Given the description of an element on the screen output the (x, y) to click on. 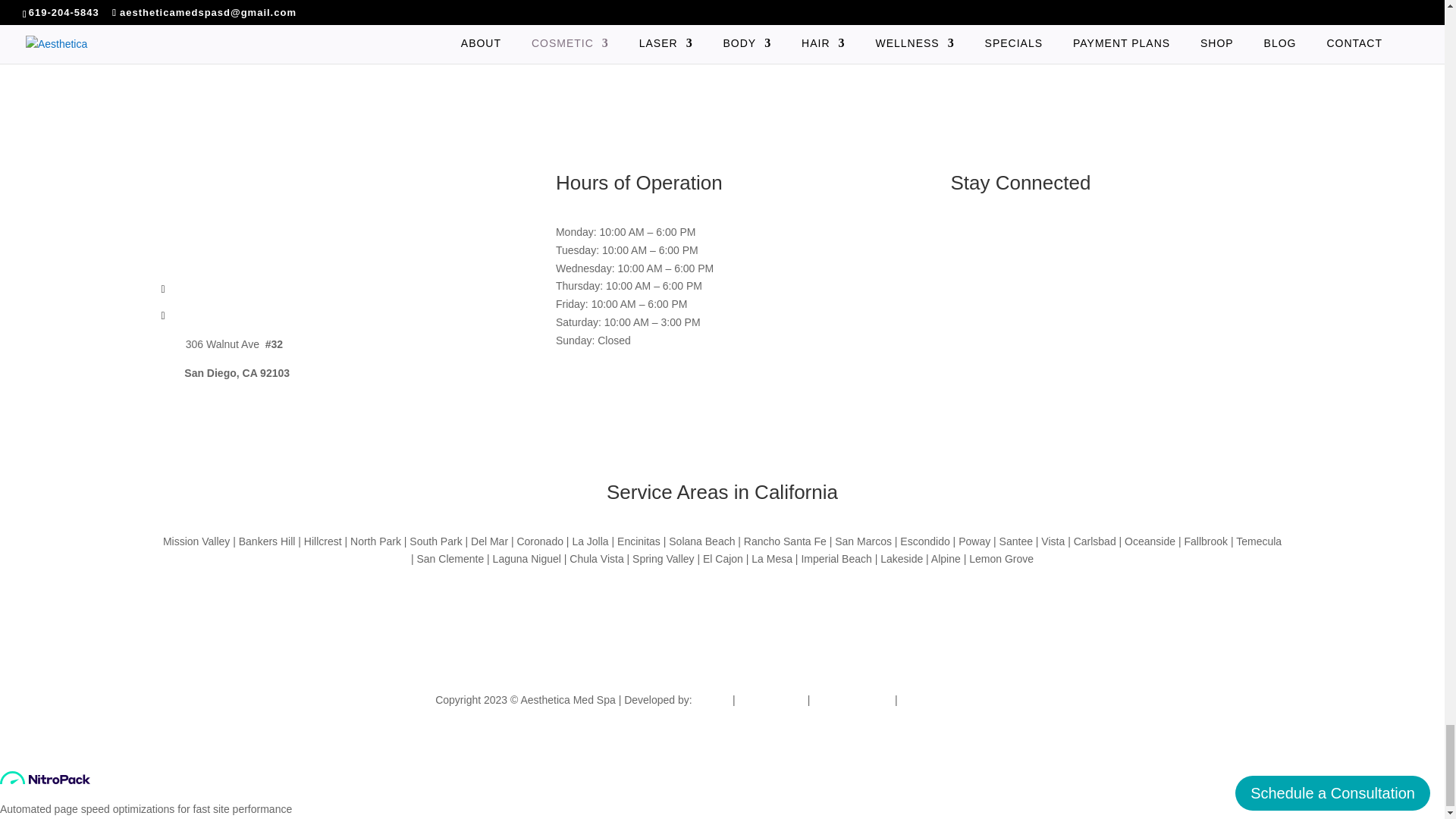
aesthetica logo white (326, 206)
